Given the description of an element on the screen output the (x, y) to click on. 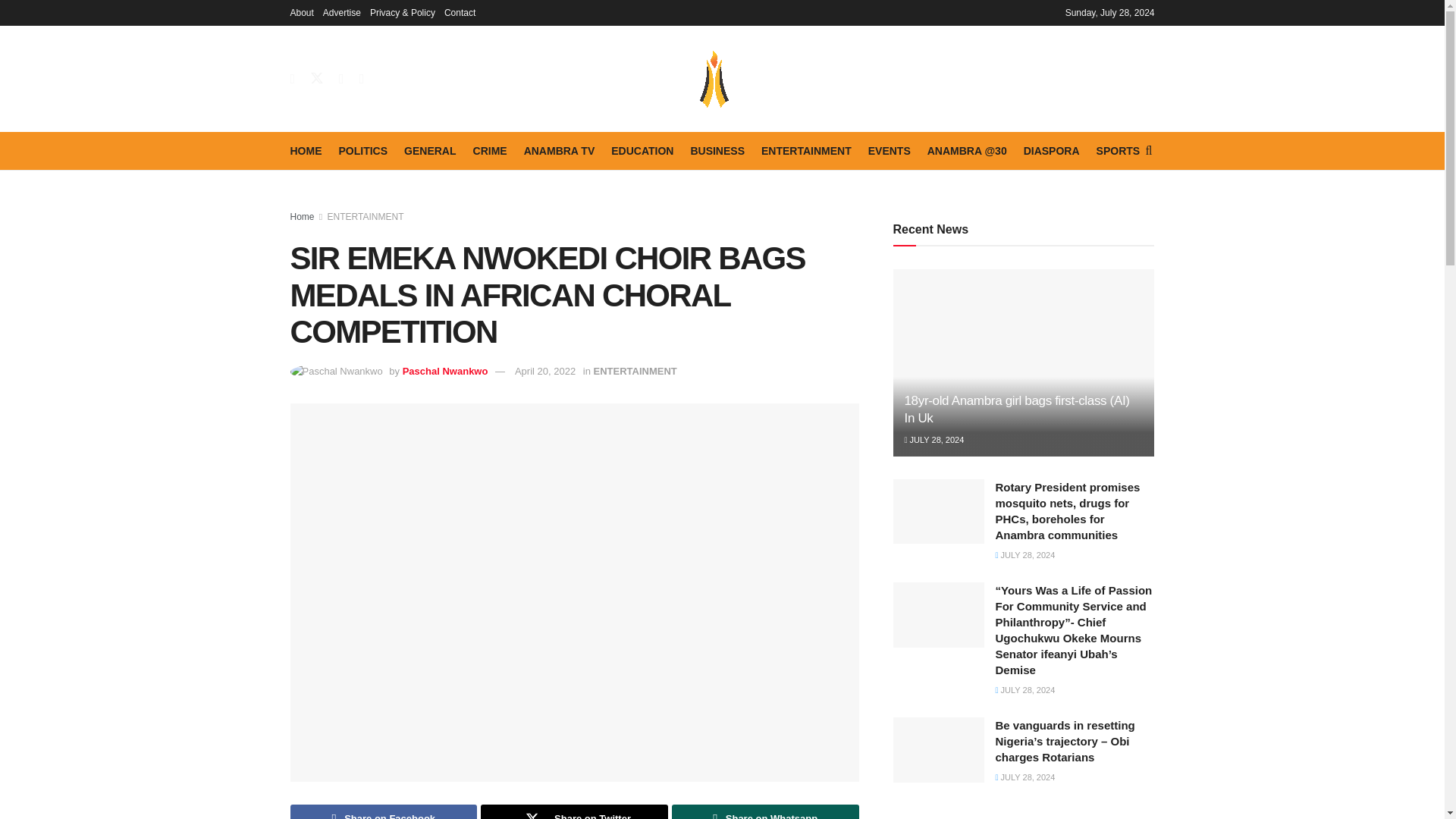
EVENTS (889, 150)
Advertise (342, 12)
GENERAL (429, 150)
CRIME (489, 150)
BUSINESS (717, 150)
ANAMBRA TV (559, 150)
HOME (305, 150)
POLITICS (362, 150)
Contact (460, 12)
About (301, 12)
DIASPORA (1051, 150)
SPORTS (1118, 150)
EDUCATION (641, 150)
ENTERTAINMENT (806, 150)
